Given the description of an element on the screen output the (x, y) to click on. 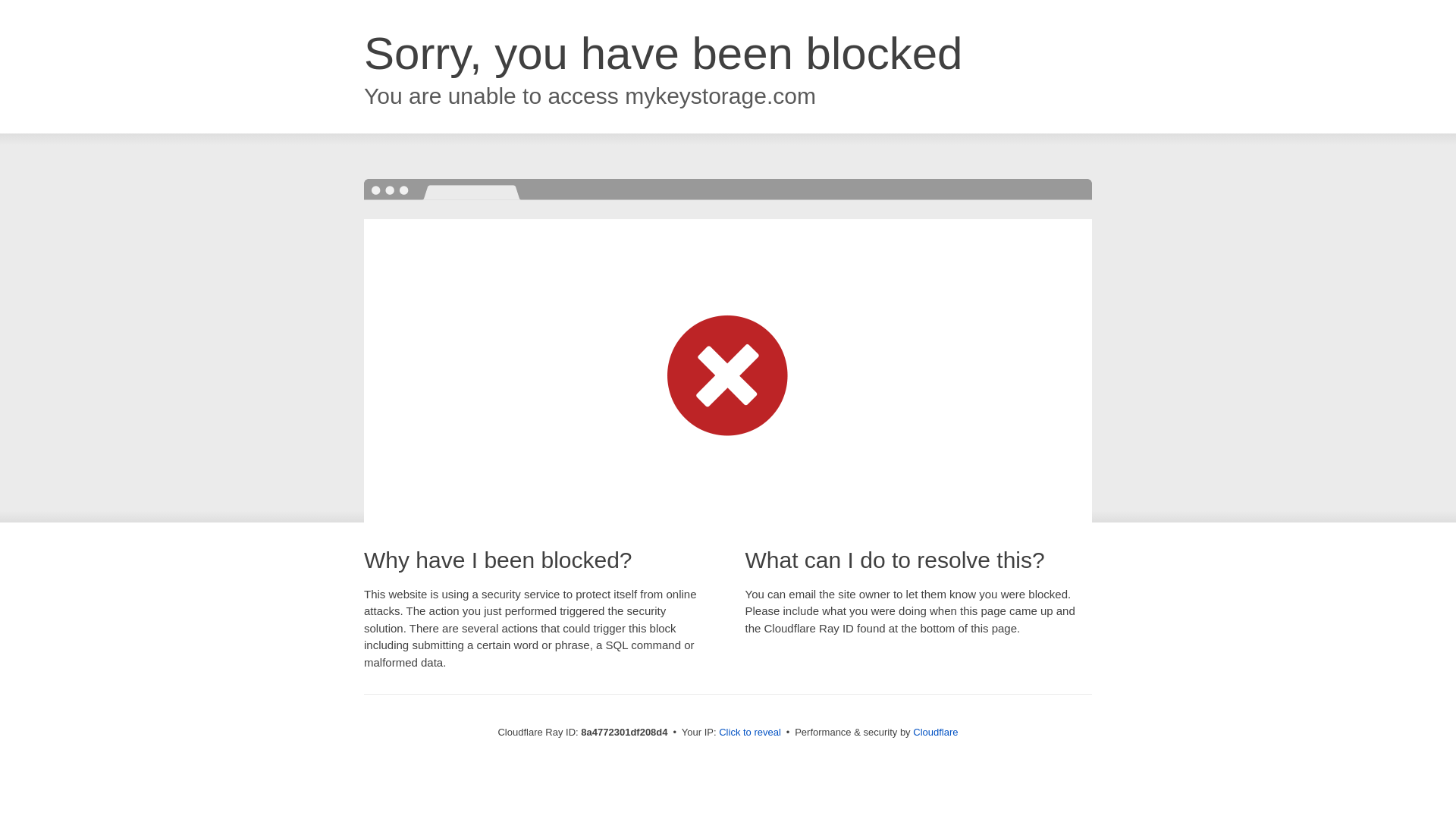
Click to reveal (749, 732)
Cloudflare (935, 731)
